Given the description of an element on the screen output the (x, y) to click on. 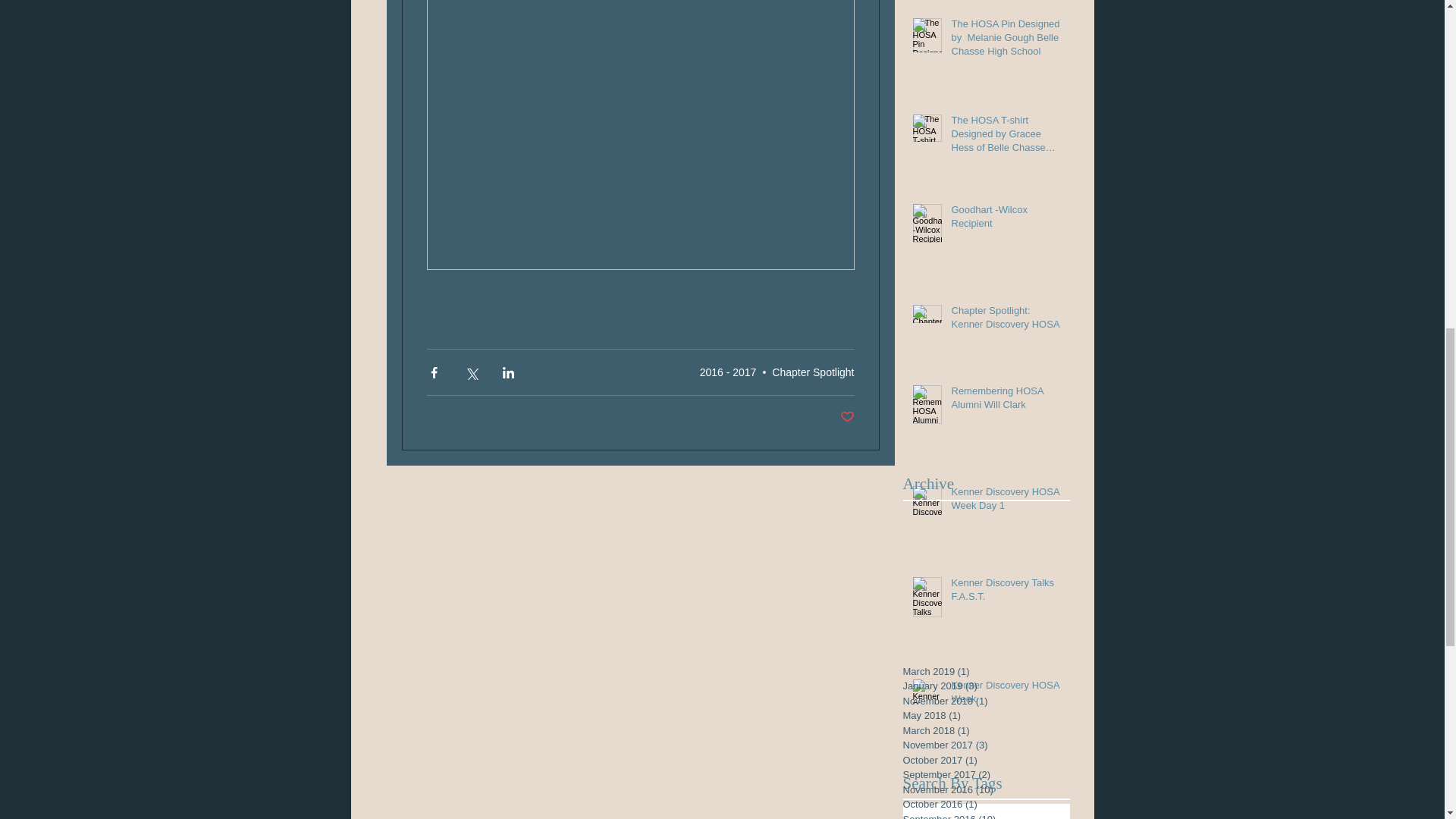
Chapter Spotlight (812, 372)
Post not marked as liked (847, 417)
2016 - 2017 (728, 372)
